Given the description of an element on the screen output the (x, y) to click on. 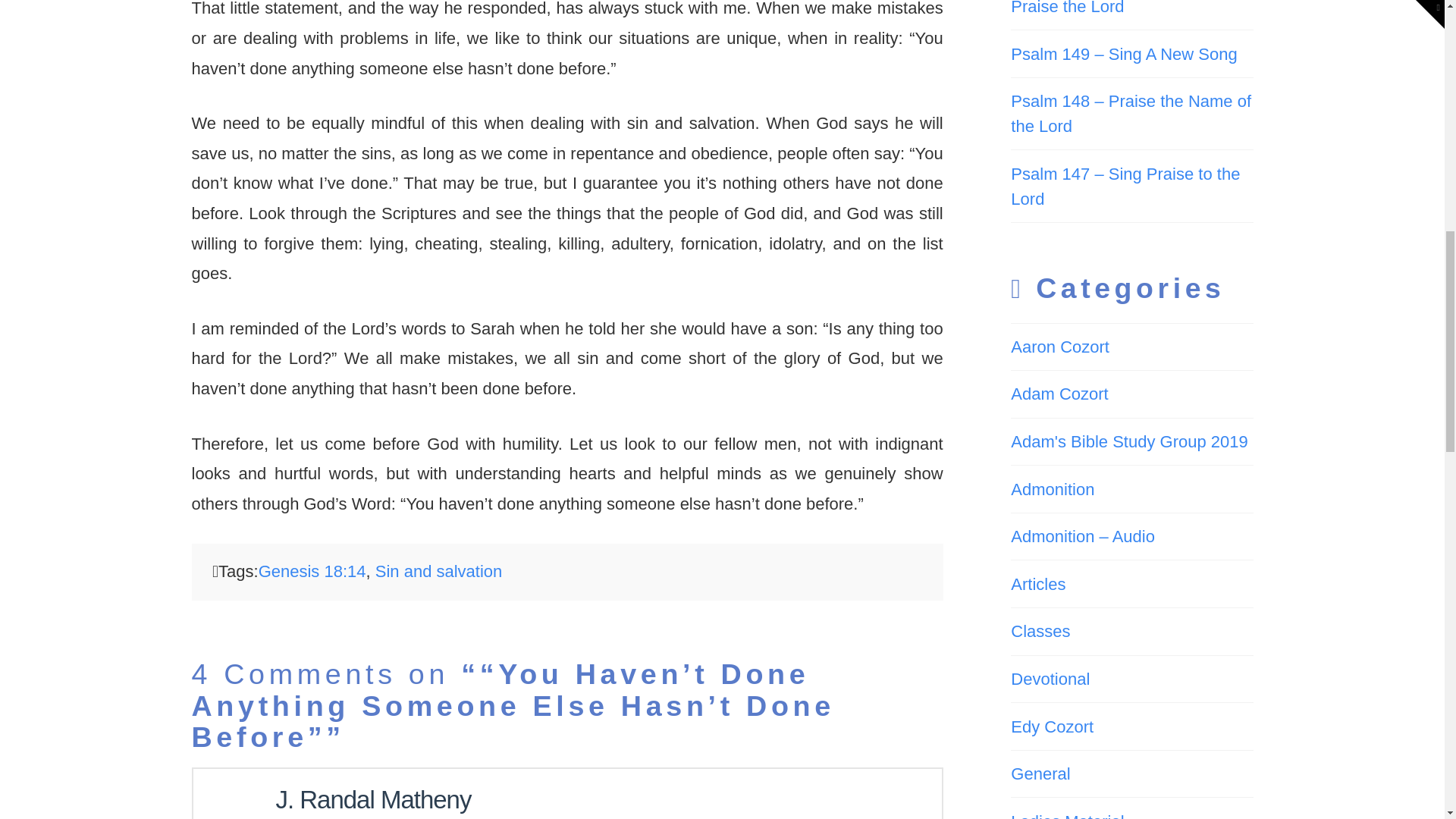
J. Randal Matheny (373, 799)
Sin and salvation (438, 570)
Genesis 18:14 (312, 570)
